Given the description of an element on the screen output the (x, y) to click on. 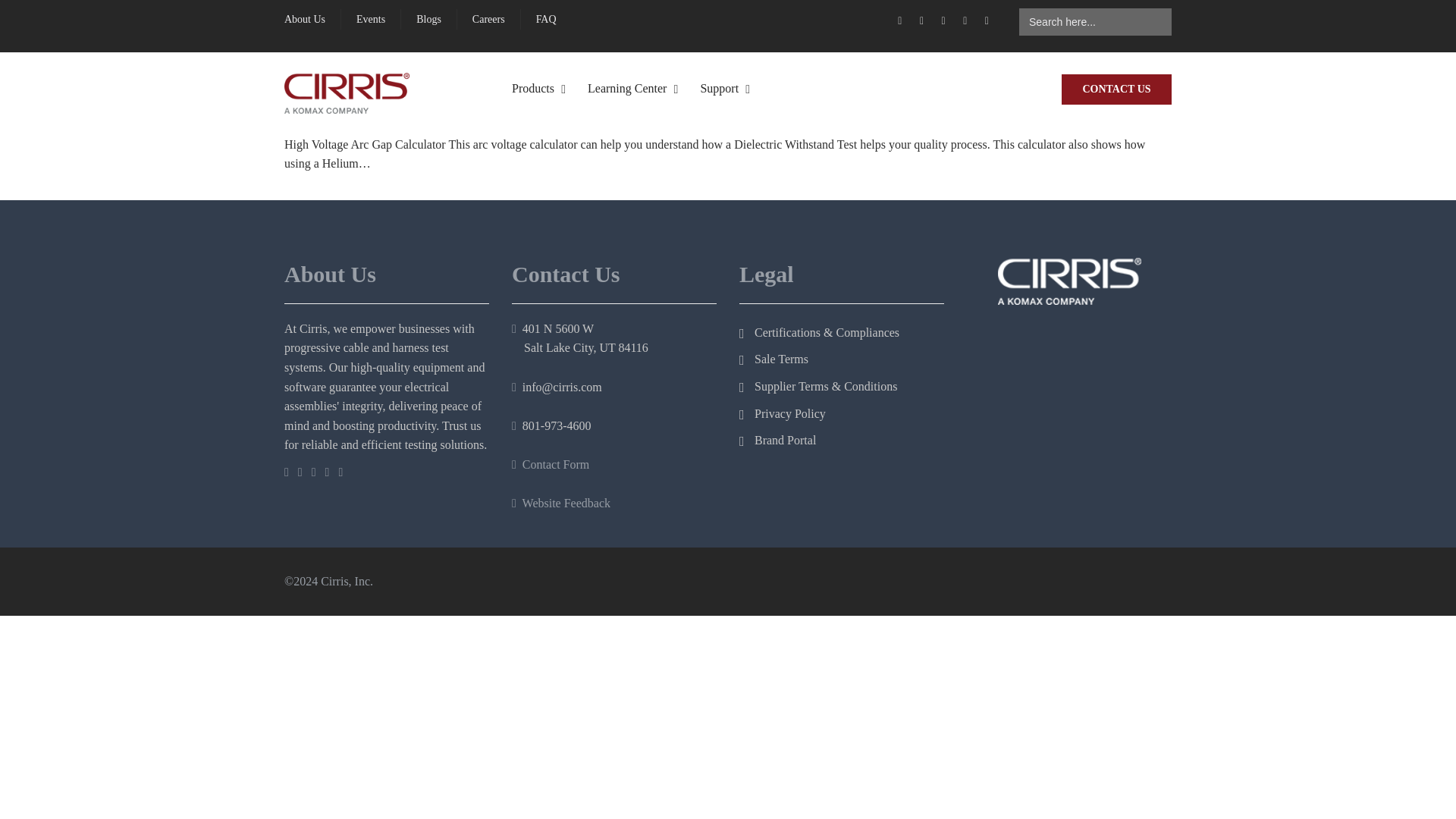
Events (370, 19)
Careers (488, 19)
Blogs (428, 19)
Training (820, 282)
Custom Solutions (652, 324)
Accessories (639, 197)
Software (633, 282)
FAQ (545, 19)
